Given the description of an element on the screen output the (x, y) to click on. 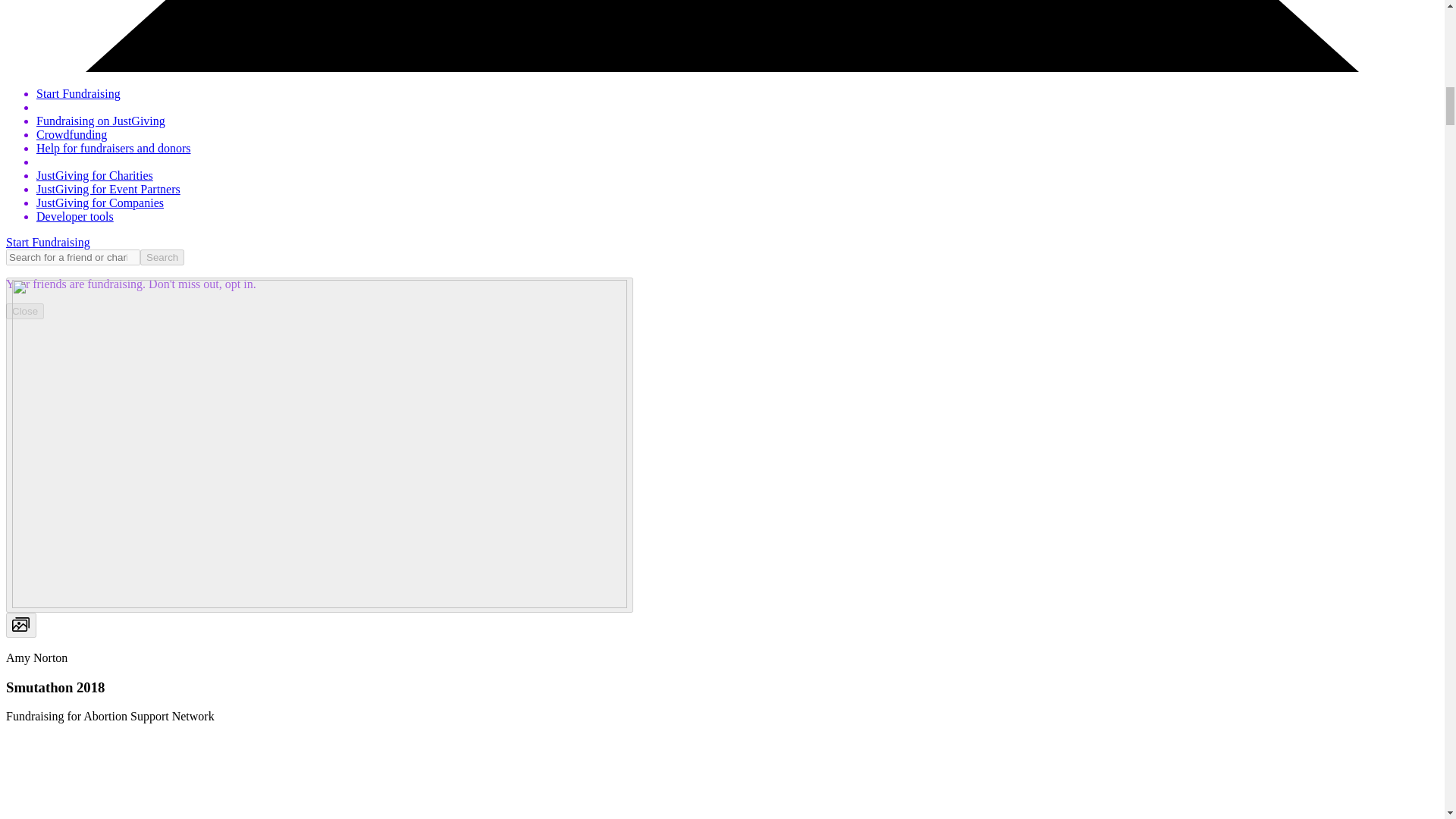
Start Fundraising (47, 241)
Developer tools (74, 215)
JustGiving for Event Partners (108, 188)
JustGiving for Charities (94, 174)
JustGiving for Companies (99, 202)
Search (161, 257)
Crowdfunding (71, 133)
Search (161, 257)
Start Fundraising (78, 92)
opt in. (239, 283)
